Given the description of an element on the screen output the (x, y) to click on. 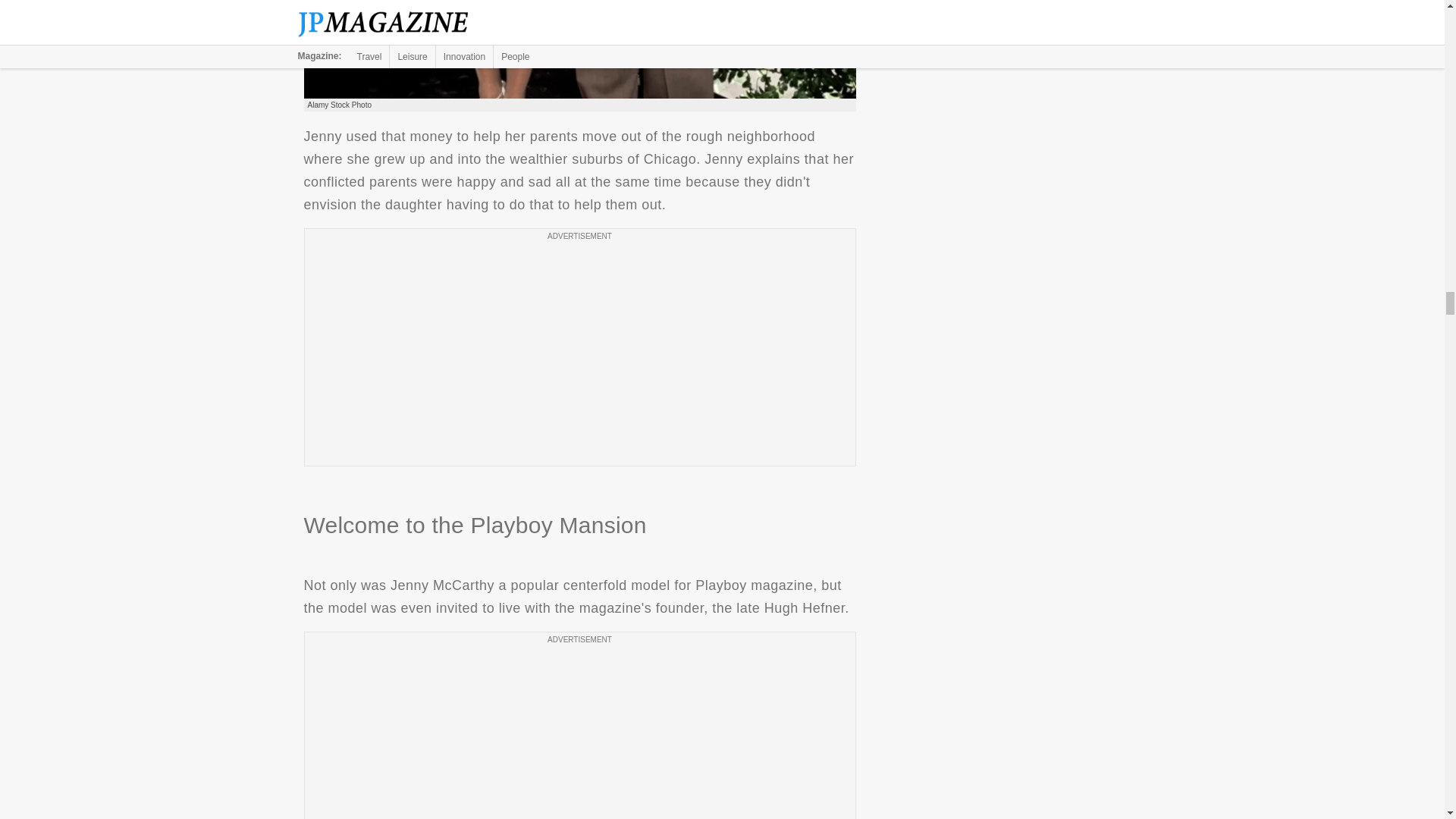
Things Are Looking Up (579, 49)
